Given the description of an element on the screen output the (x, y) to click on. 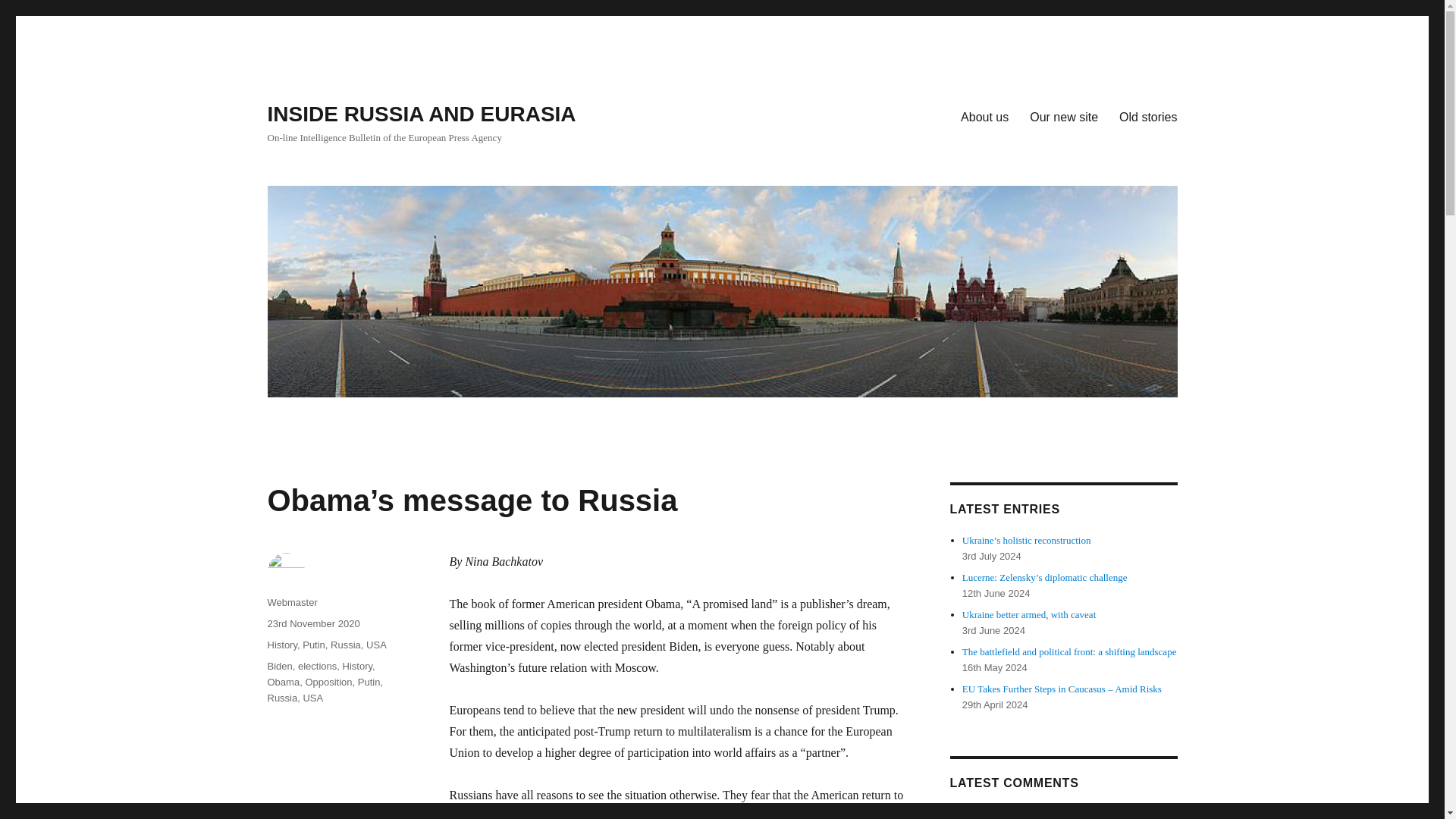
Ukraine better armed, with caveat (1029, 614)
USA (376, 644)
Russia (345, 644)
Opposition (328, 681)
elections (317, 665)
Putin (313, 644)
Russia (281, 697)
About us (984, 116)
History (357, 665)
The battlefield and political front: a shifting landscape (1069, 651)
Old stories (1148, 116)
Our new site (1063, 116)
History (281, 644)
INSIDE RUSSIA AND EURASIA (420, 114)
Webmaster (291, 602)
